Given the description of an element on the screen output the (x, y) to click on. 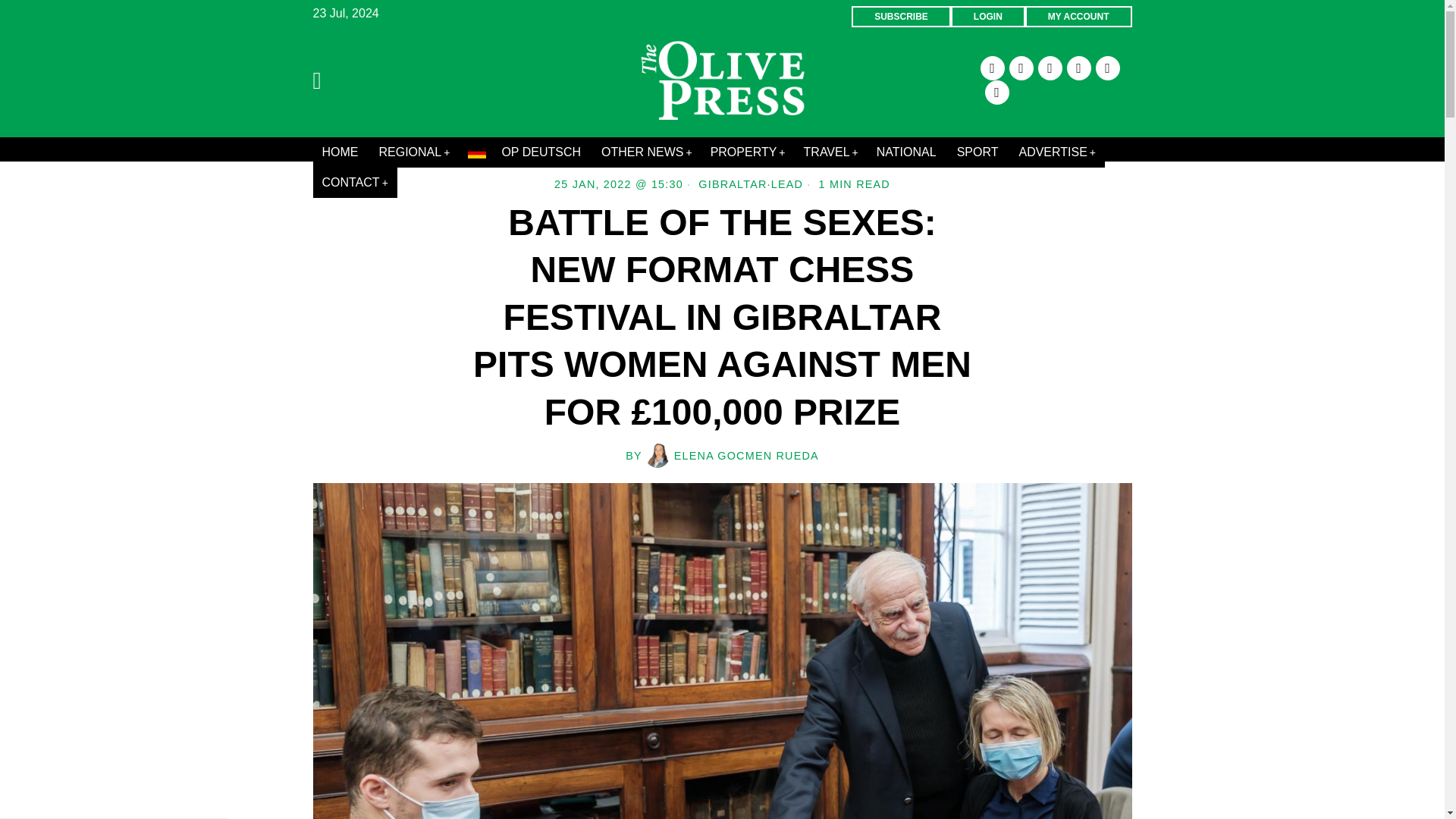
25 Jan, 2022 15:00:30 (618, 183)
OP DEUTSCH (525, 152)
SUBSCRIBE (900, 16)
PROPERTY (747, 152)
MY ACCOUNT (1078, 16)
REGIONAL (414, 152)
OTHER NEWS (646, 152)
HOME (341, 152)
LOGIN (987, 16)
